Given the description of an element on the screen output the (x, y) to click on. 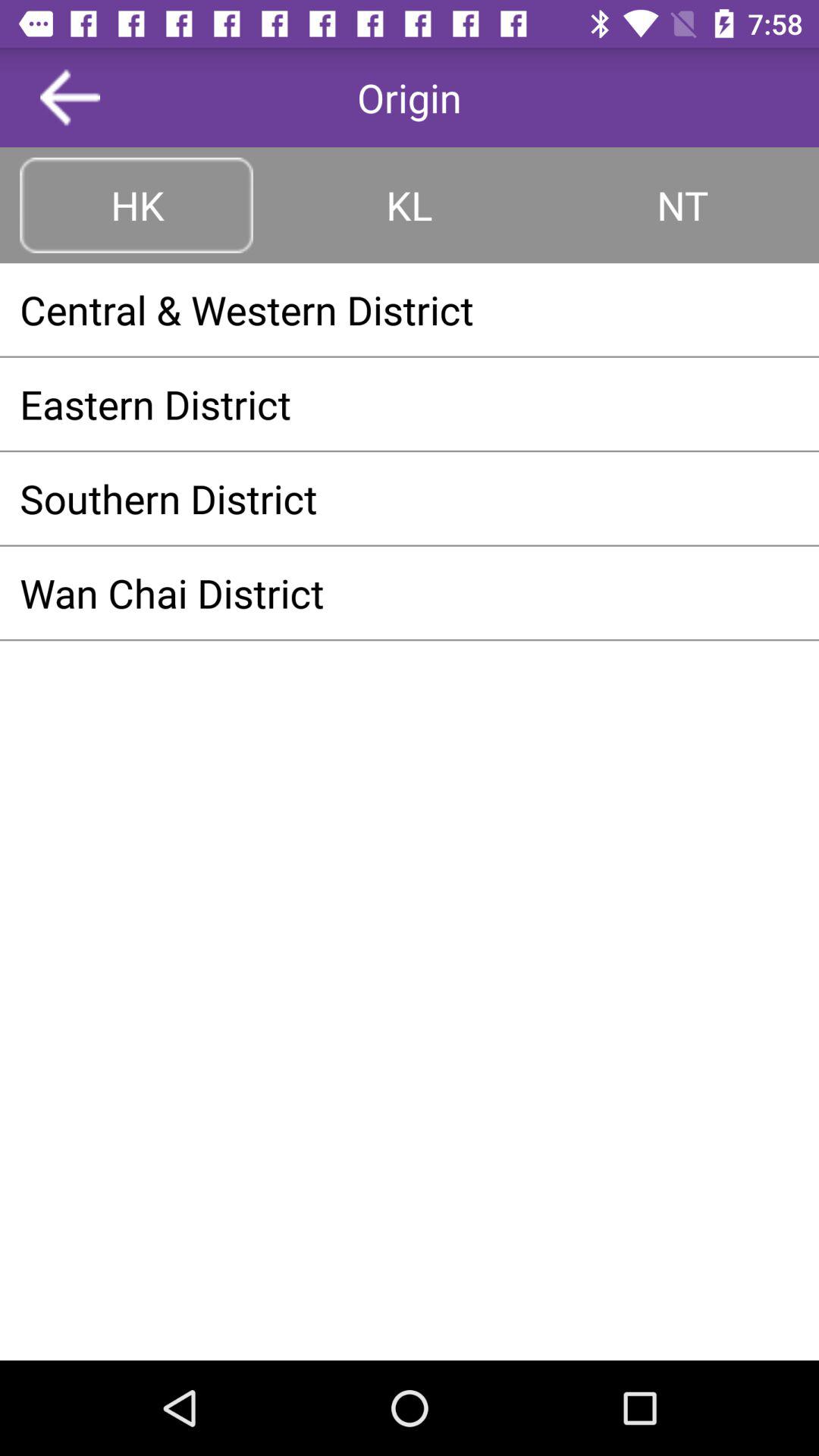
press the kl item (409, 205)
